Given the description of an element on the screen output the (x, y) to click on. 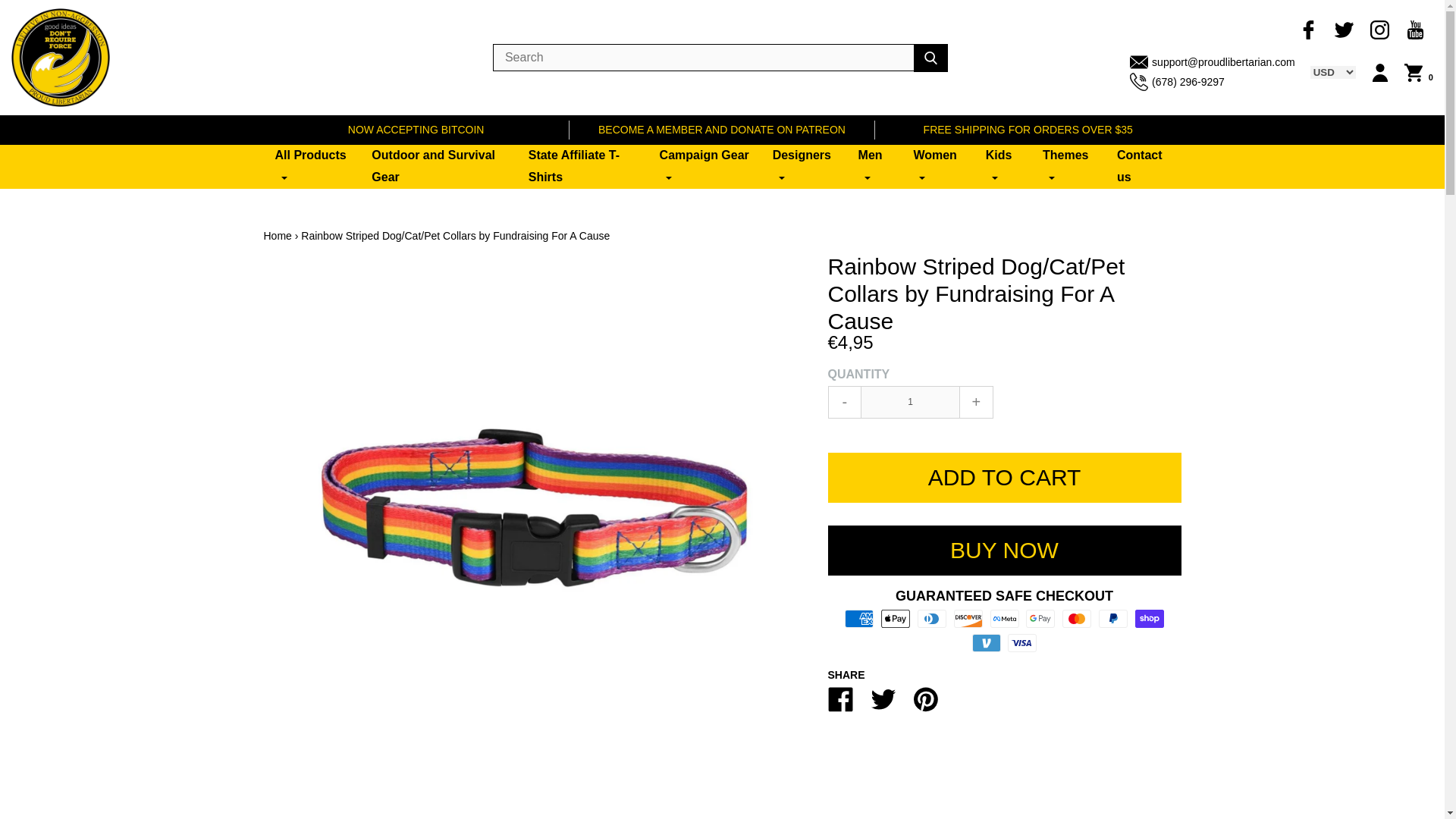
1 (909, 401)
State Affiliate T-Shirts (581, 166)
NOW ACCEPTING BITCOIN (415, 129)
All Products (312, 166)
Campaign Gear (704, 166)
Home (277, 235)
Outdoor and Survival Gear (437, 166)
BECOME A MEMBER AND DONATE ON PATREON (721, 129)
0 (1418, 72)
